Given the description of an element on the screen output the (x, y) to click on. 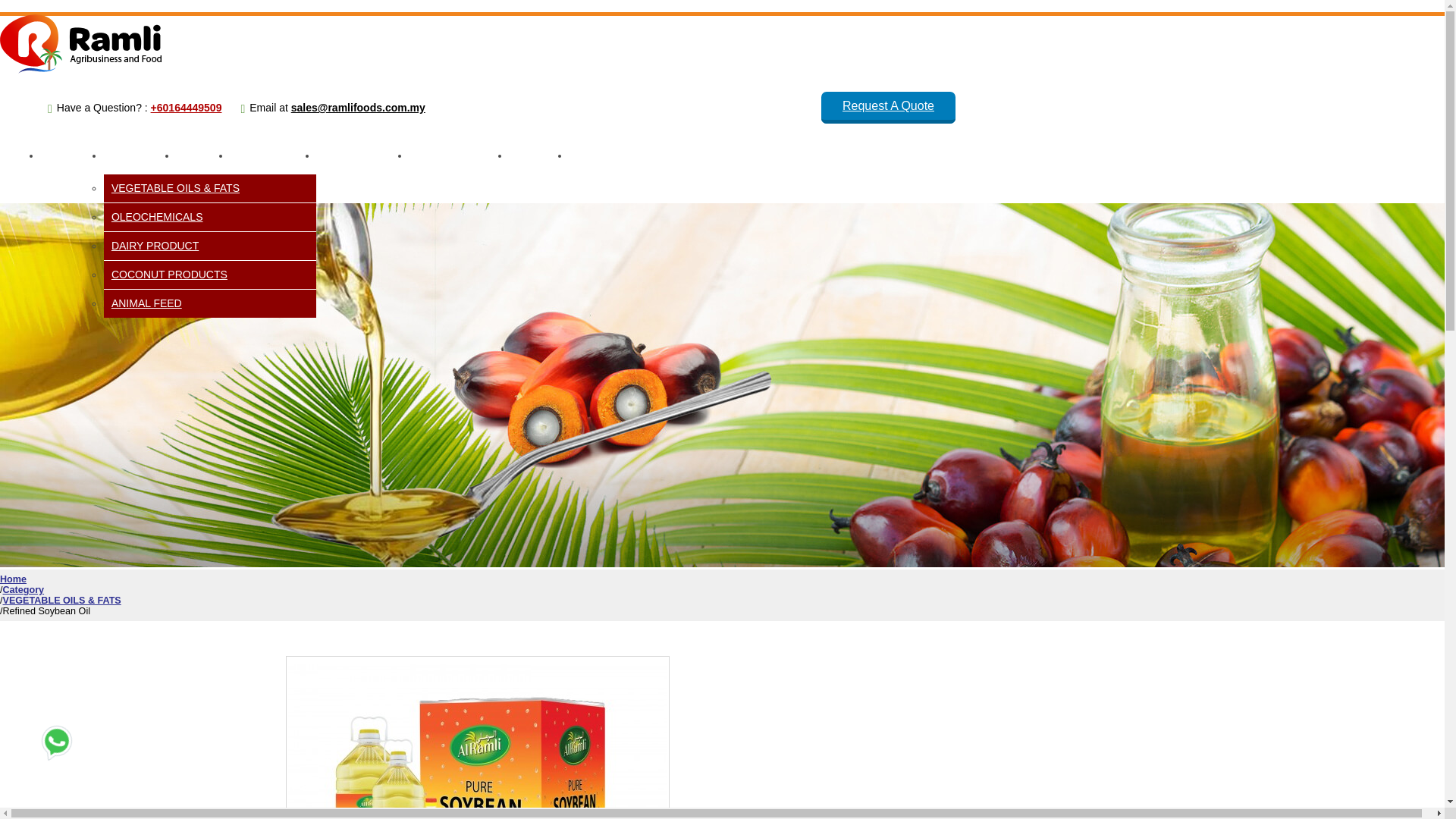
Home (19, 155)
Ramli Global SDN. (80, 71)
Whatsapp (56, 740)
Careers (538, 155)
ANIMAL FEED (209, 303)
About Us (70, 155)
COCONUT PRODUCTS (209, 275)
DAIRY PRODUCT (209, 245)
CERTIFICATION (272, 155)
Request A Quote (888, 107)
Hover to zoom (477, 738)
DAIRY PRODUCT (209, 245)
News and Event (457, 155)
NEWS AND EVENT (457, 155)
Sustainability (362, 155)
